Given the description of an element on the screen output the (x, y) to click on. 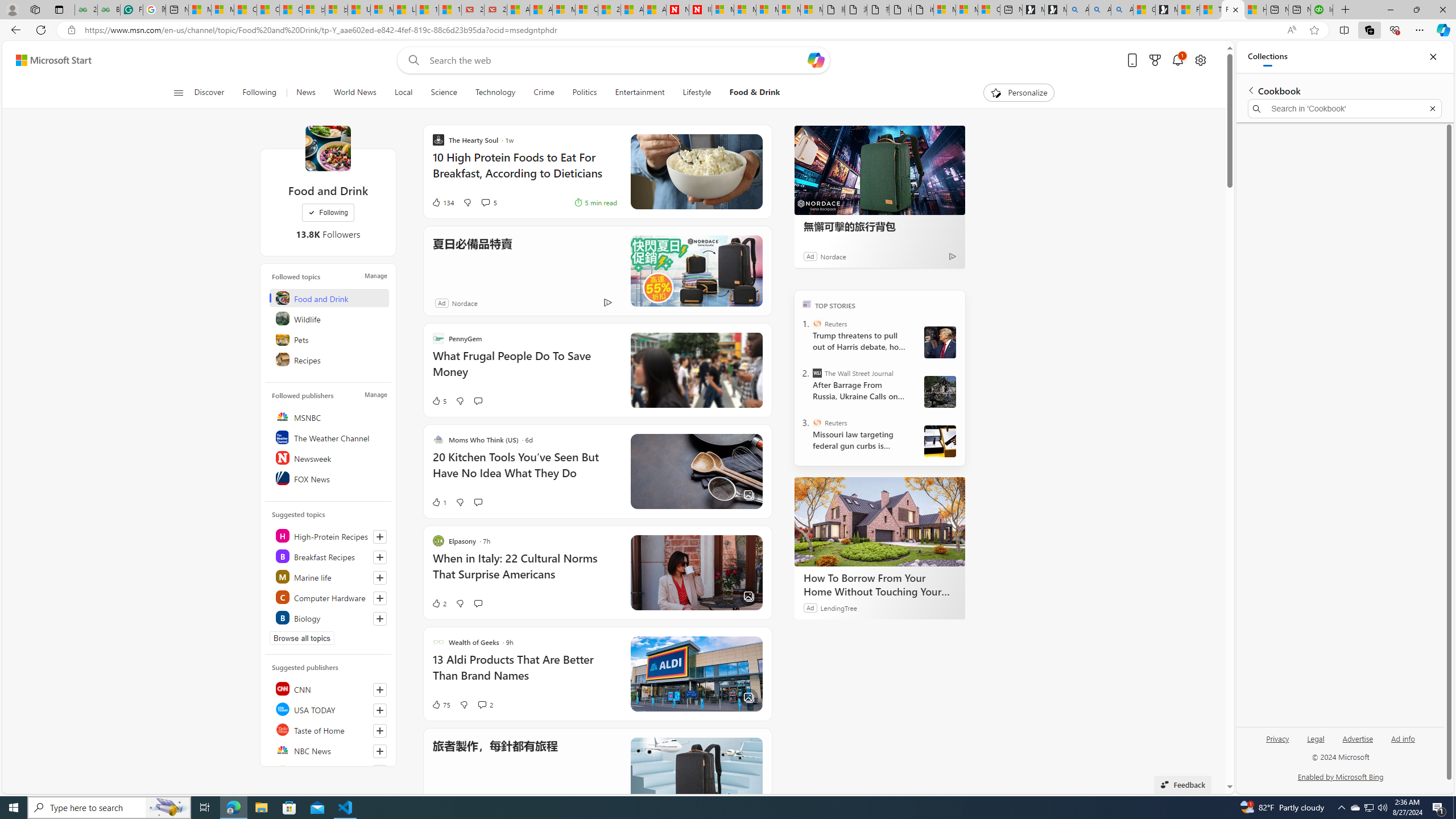
Taste of Home (328, 729)
Science (443, 92)
FOX News (328, 478)
News (305, 92)
Copilot (Ctrl+Shift+.) (1442, 29)
Read aloud this page (Ctrl+Shift+U) (1291, 29)
Add this page to favorites (Ctrl+D) (1314, 29)
Privacy (1277, 742)
Politics (584, 92)
Science (442, 92)
Ad (440, 302)
